Given the description of an element on the screen output the (x, y) to click on. 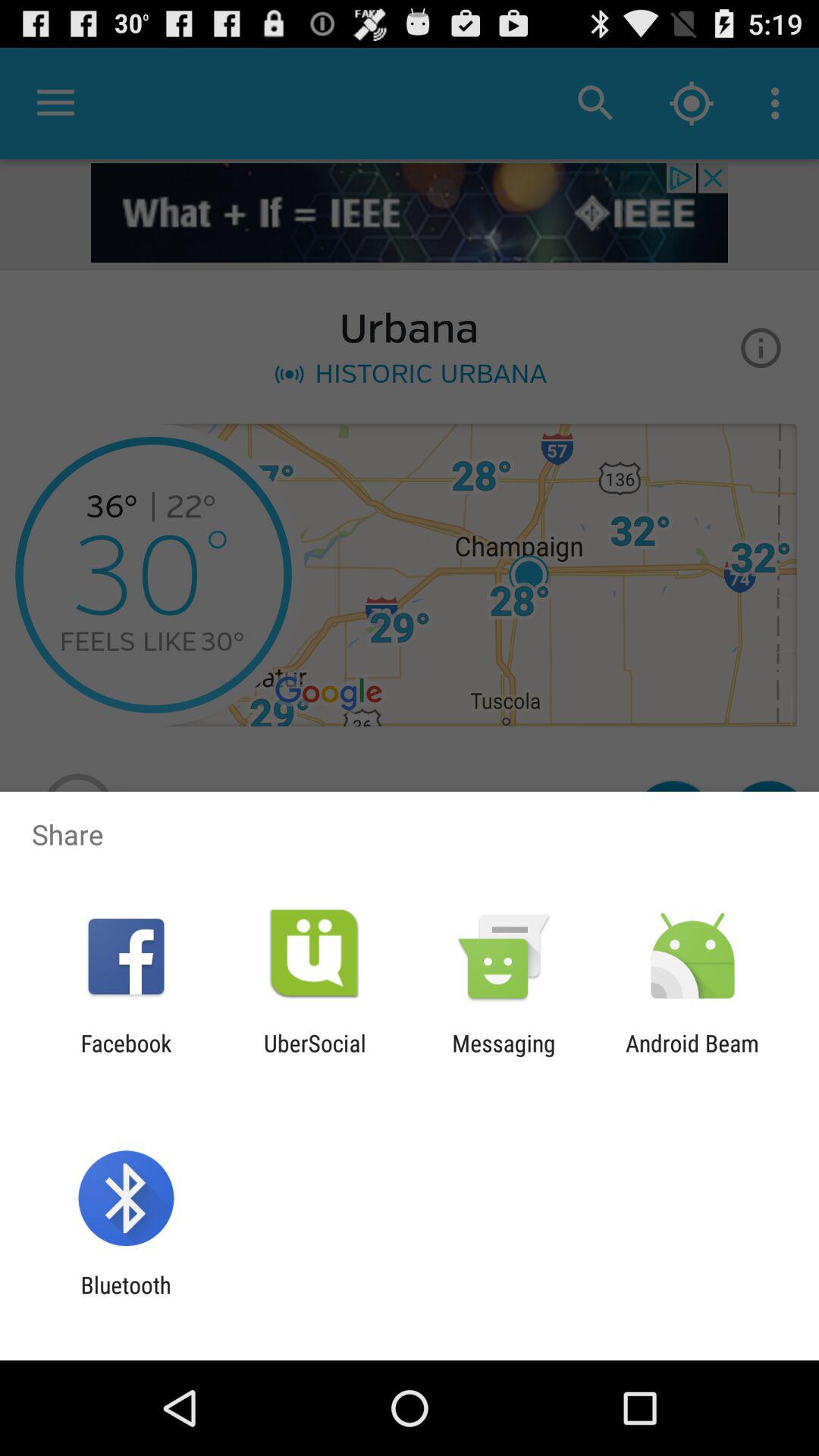
select android beam at the bottom right corner (692, 1056)
